Given the description of an element on the screen output the (x, y) to click on. 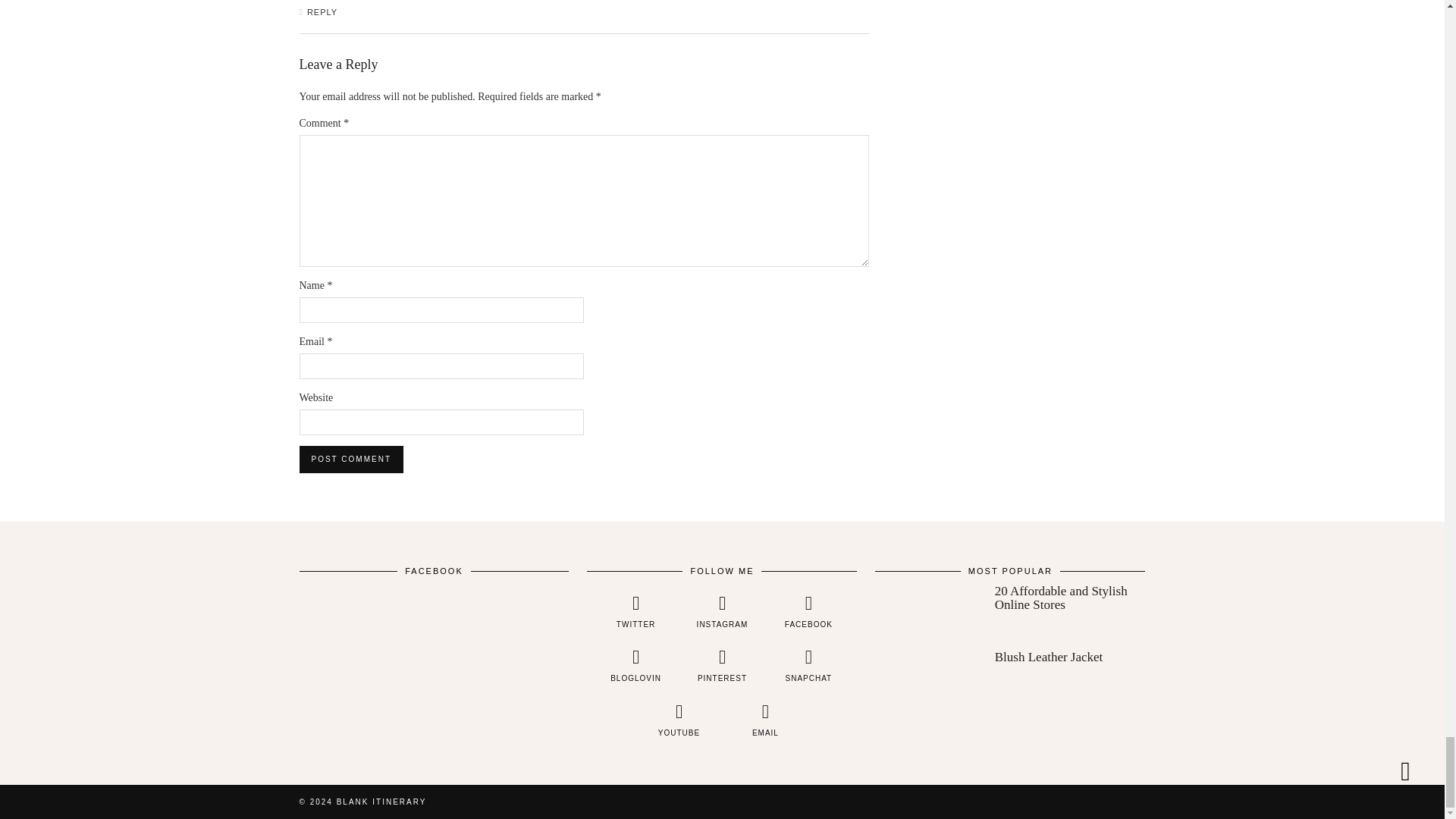
twitter (635, 611)
bloglovin (635, 665)
Post Comment (350, 459)
facebook (808, 611)
youtube (679, 720)
pinterest (722, 665)
snapchat (808, 665)
instagram (722, 611)
